Given the description of an element on the screen output the (x, y) to click on. 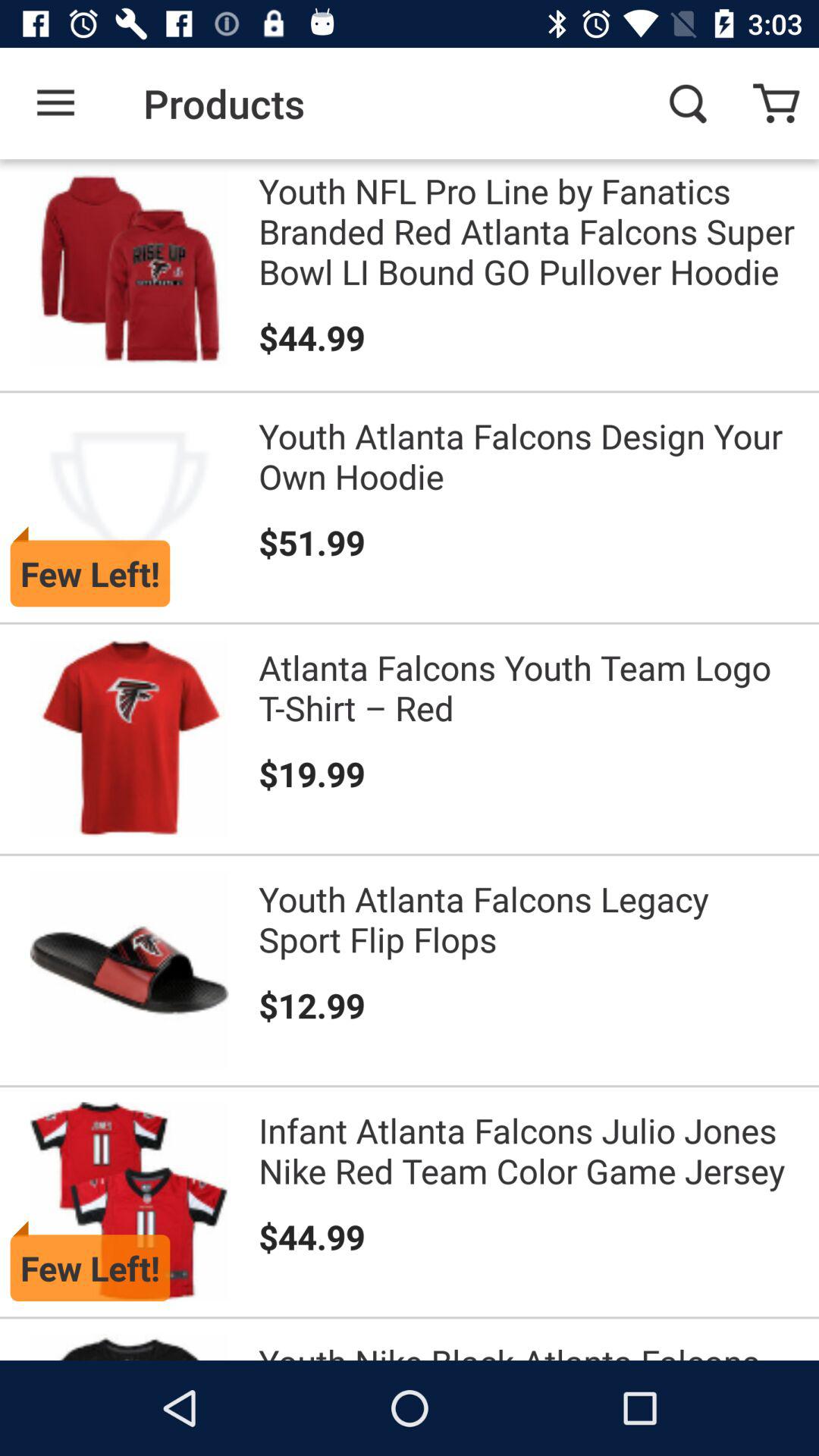
tap item to the left of the products item (55, 103)
